Given the description of an element on the screen output the (x, y) to click on. 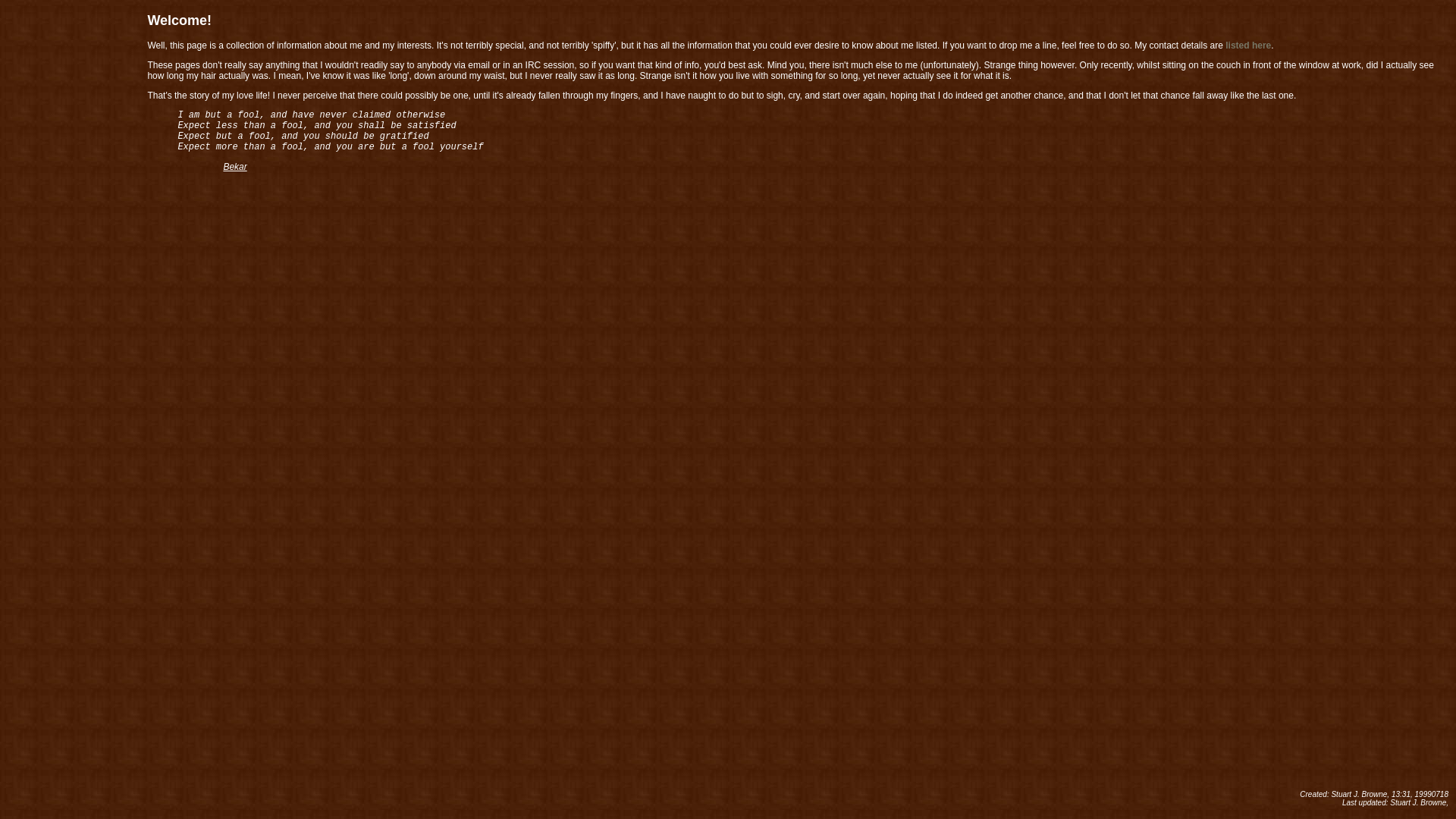
listed here Element type: text (1247, 45)
